Given the description of an element on the screen output the (x, y) to click on. 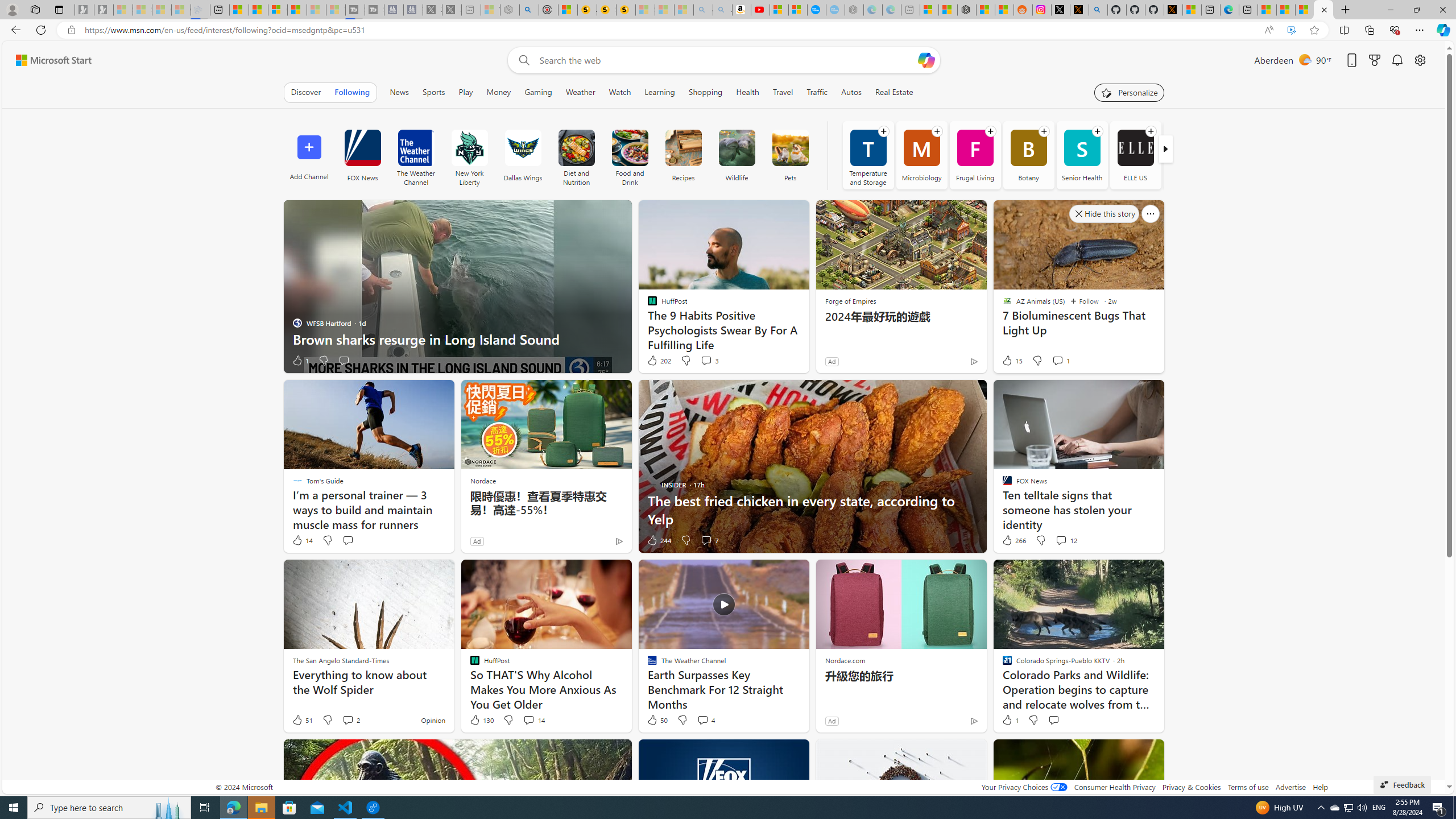
Hide this story (1129, 752)
Shanghai, China Weather trends | Microsoft Weather (1004, 9)
FOX News (362, 147)
Travel (782, 92)
X Privacy Policy (1173, 9)
Pets (789, 147)
Wildlife (736, 155)
Traffic (816, 92)
ELLE US (1135, 147)
